Given the description of an element on the screen output the (x, y) to click on. 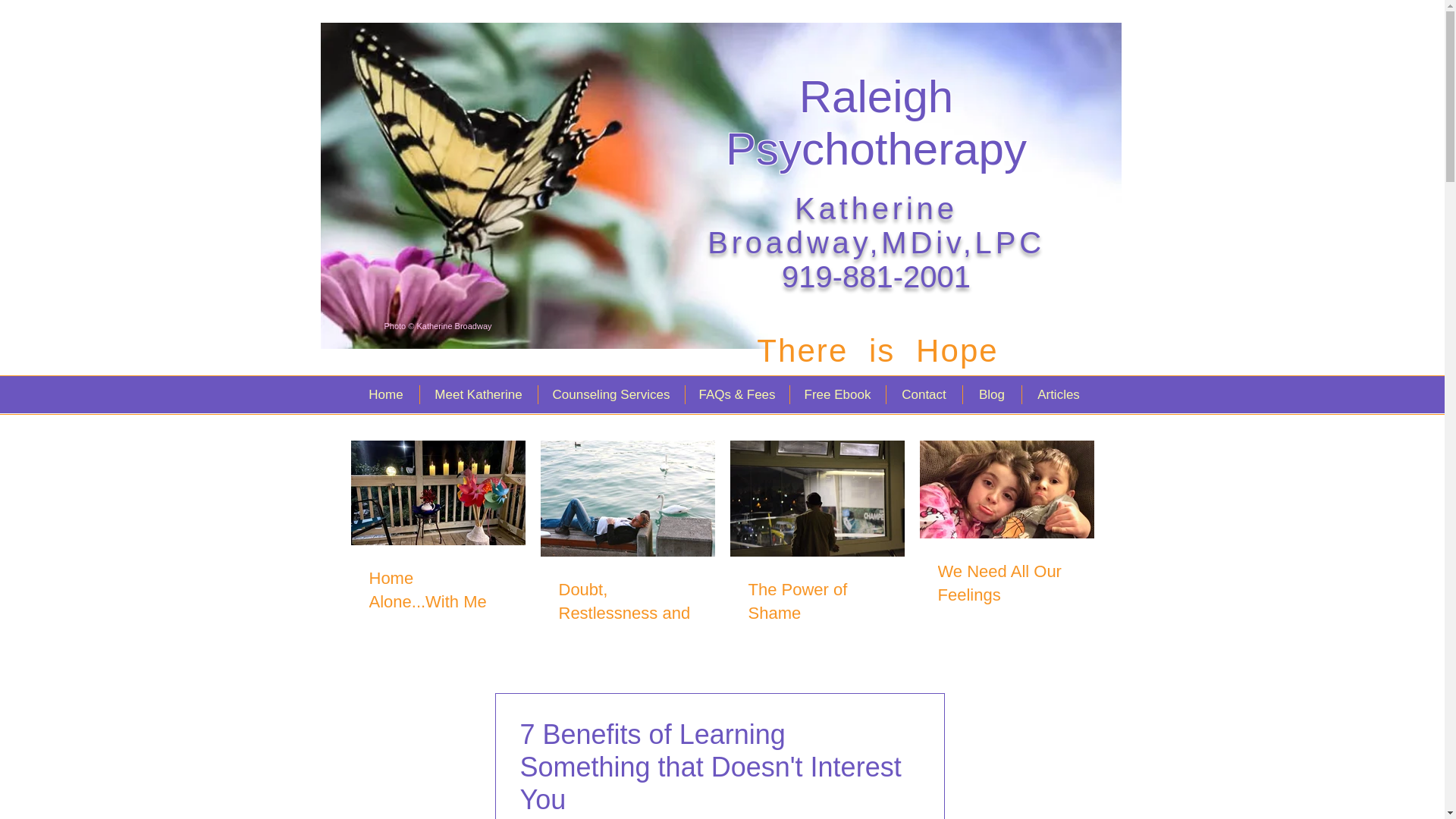
We Need All Our Feelings (1006, 583)
Counseling Services (610, 394)
The Power of Shame (816, 601)
Contact (923, 394)
Home (386, 394)
Articles (1057, 394)
Doubt, Restlessness and Boredom (626, 613)
Blog (990, 394)
Meet Katherine (478, 394)
Free Ebook (837, 394)
Home Alone...With Me (437, 590)
